Given the description of an element on the screen output the (x, y) to click on. 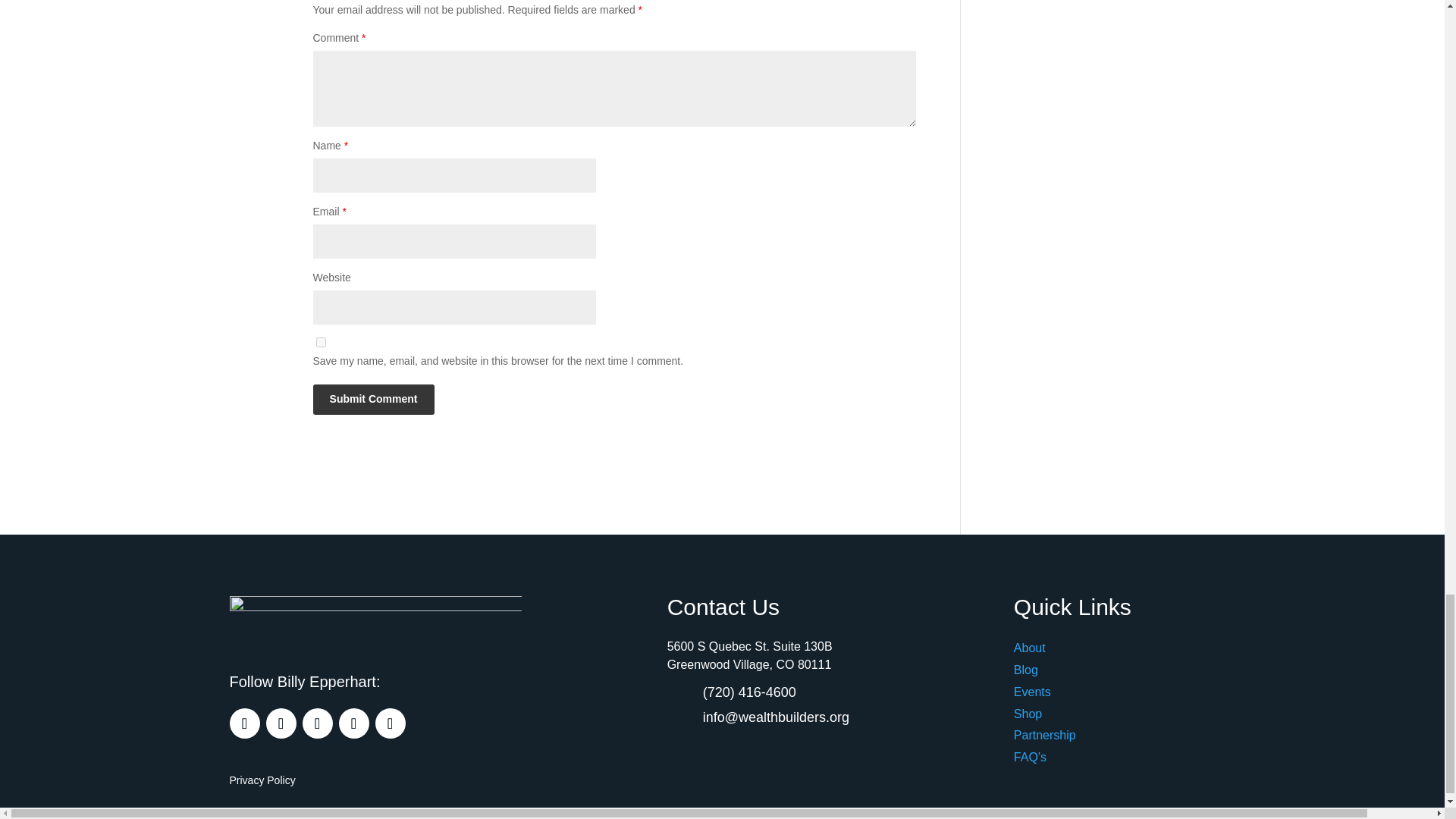
Follow on X (316, 723)
yes (319, 342)
Follow on LinkedIn (352, 723)
Follow on Facebook (243, 723)
footer logo (374, 621)
Submit Comment (373, 399)
Follow on Youtube (389, 723)
Follow on Instagram (279, 723)
